Given the description of an element on the screen output the (x, y) to click on. 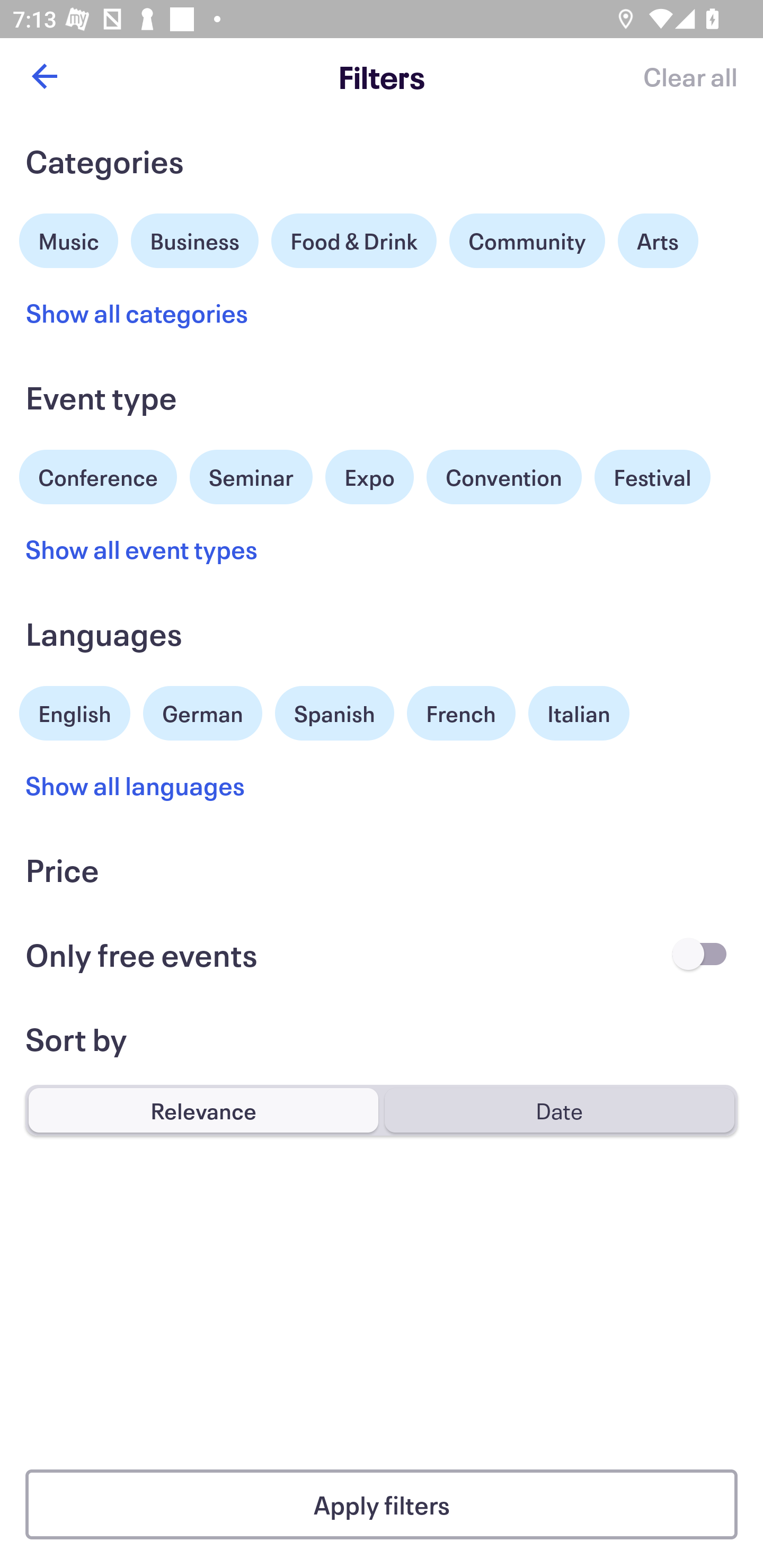
Back button (44, 75)
Clear all (690, 75)
Music (68, 238)
Business (194, 238)
Food & Drink (353, 240)
Community (527, 240)
Arts (658, 240)
Show all categories (136, 312)
Conference (98, 475)
Seminar (250, 477)
Expo (369, 477)
Convention (503, 477)
Festival (652, 477)
Show all event types (141, 548)
English (74, 710)
German (202, 710)
Spanish (334, 713)
French (460, 713)
Italian (578, 713)
Show all languages (135, 784)
Relevance (203, 1109)
Date (559, 1109)
Apply filters (381, 1504)
